Given the description of an element on the screen output the (x, y) to click on. 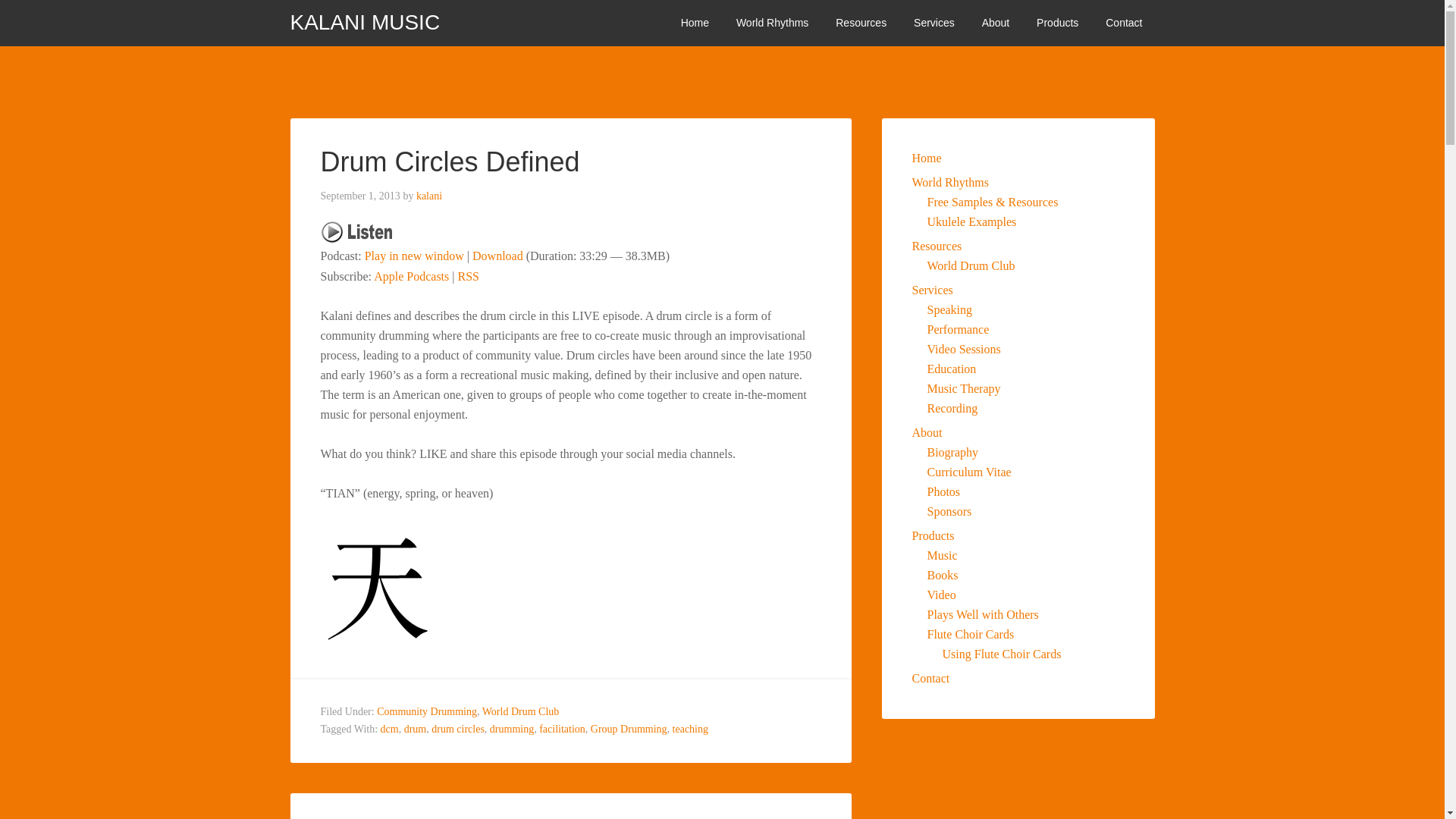
World Rhythms (772, 22)
About (995, 22)
drum circles (457, 728)
Apple Podcasts (411, 276)
Subscribe via RSS (468, 276)
Download (496, 255)
Play in new window (414, 255)
kalani (429, 195)
RSS (468, 276)
Play (360, 236)
World Drum Club (520, 711)
Play in new window (414, 255)
Products (1057, 22)
Contact (1123, 22)
Drum Circles Defined (449, 161)
